Given the description of an element on the screen output the (x, y) to click on. 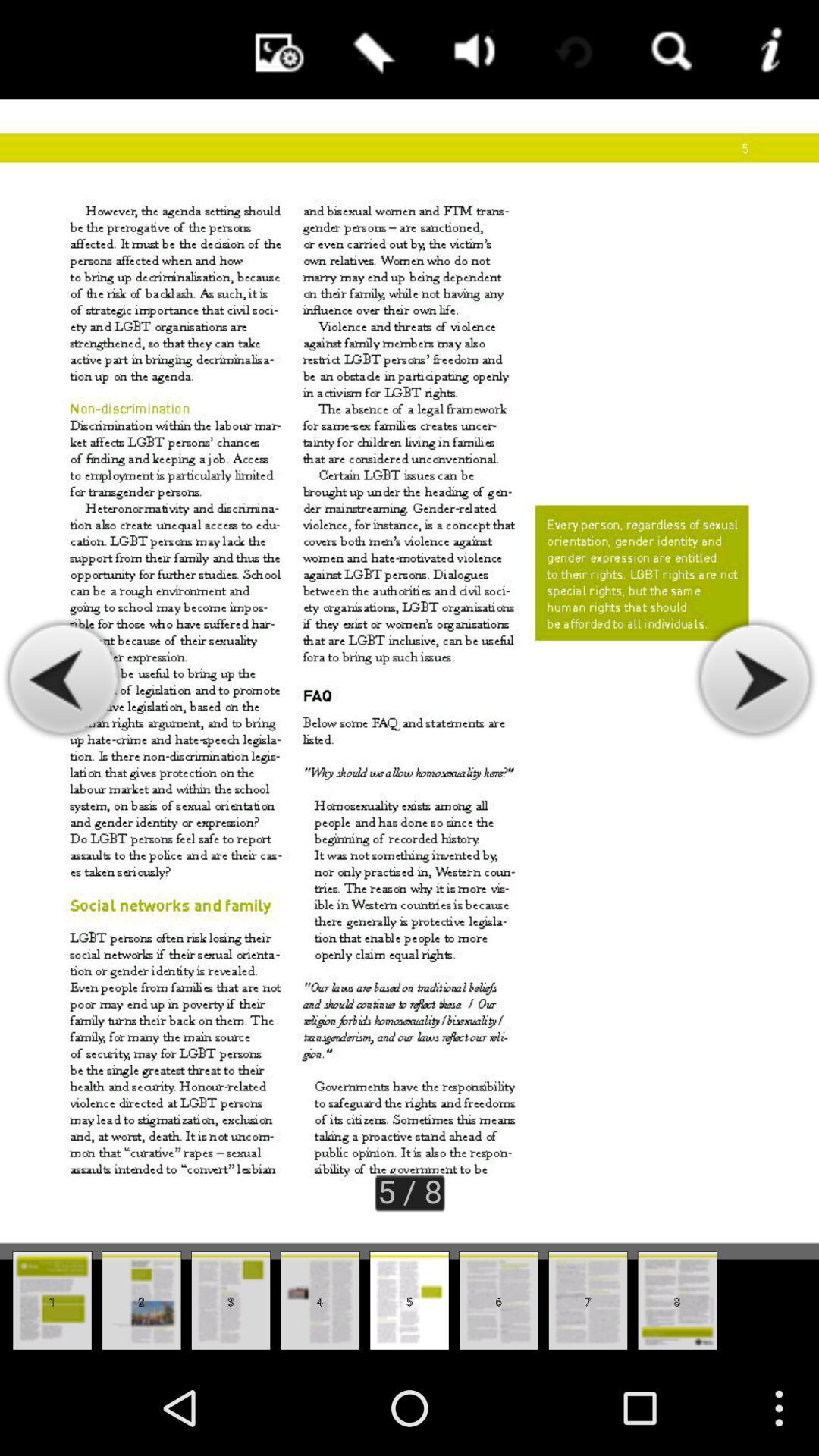
search the page (669, 49)
